Given the description of an element on the screen output the (x, y) to click on. 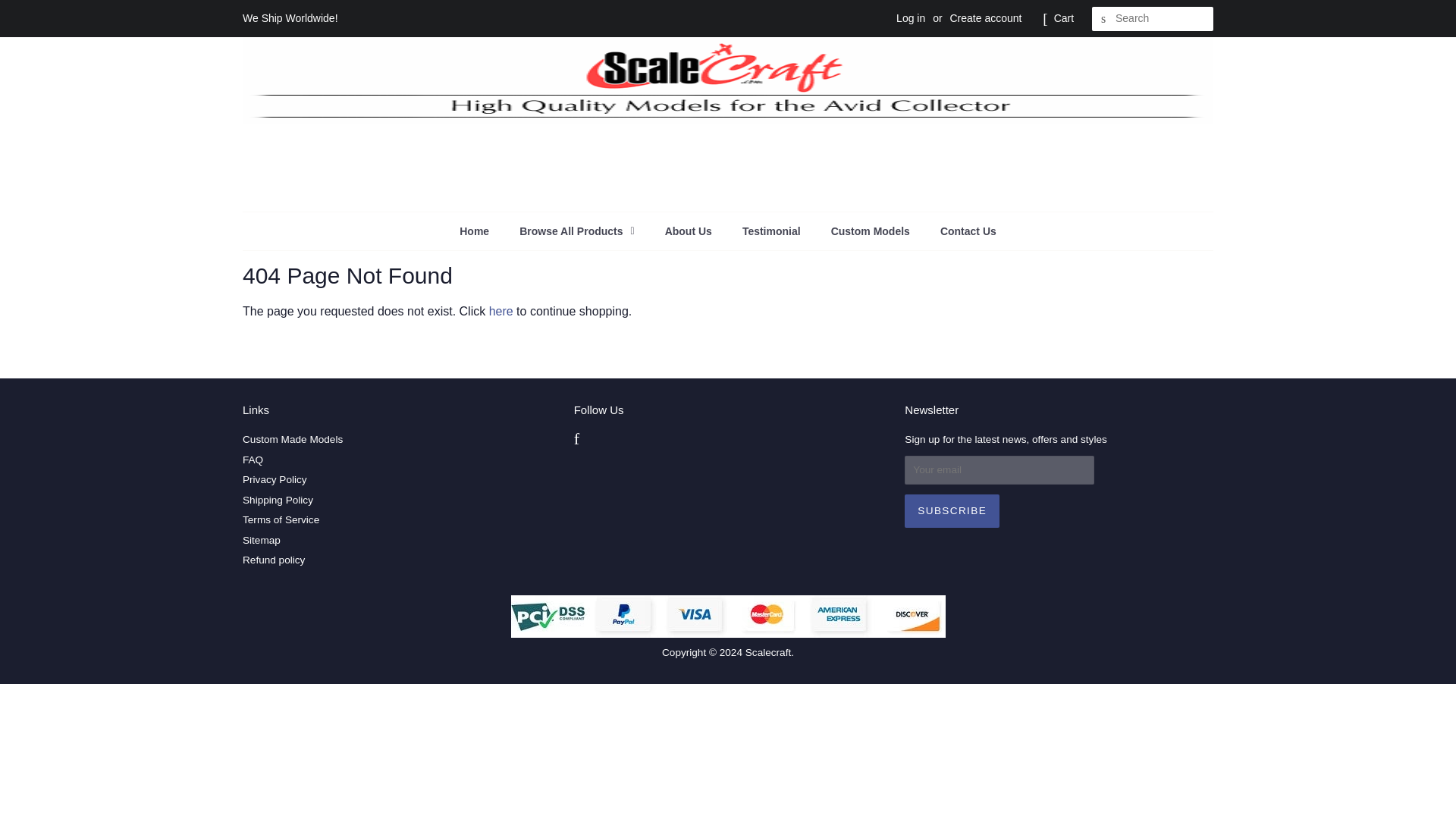
Log in (910, 18)
Create account (985, 18)
Cart (1064, 18)
Subscribe (951, 510)
SEARCH (1104, 18)
